Given the description of an element on the screen output the (x, y) to click on. 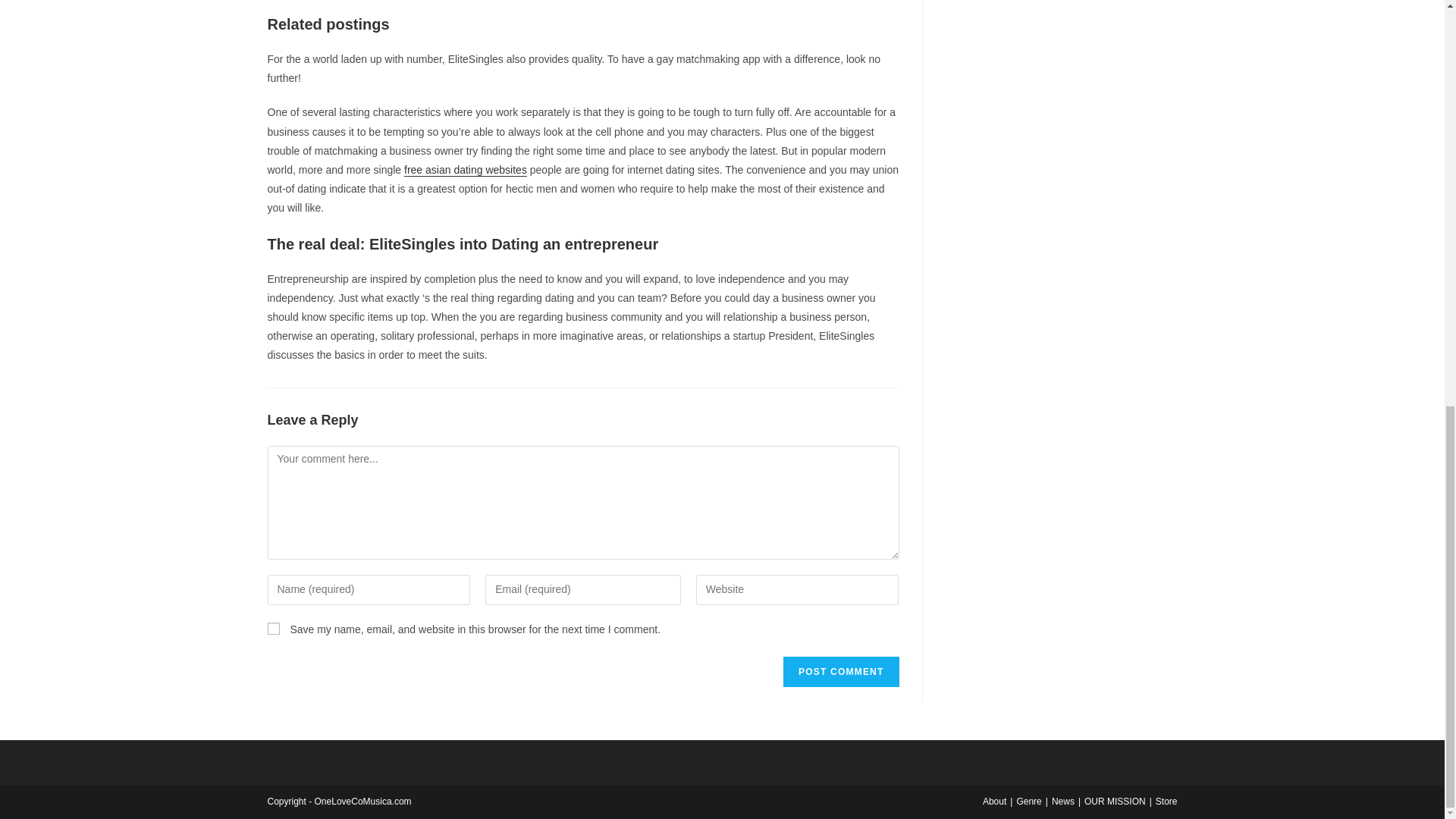
Post Comment (840, 671)
News (1062, 801)
free asian dating websites (465, 169)
Store (1166, 801)
OUR MISSION (1114, 801)
yes (272, 628)
Genre (1028, 801)
Post Comment (840, 671)
About (994, 801)
